Given the description of an element on the screen output the (x, y) to click on. 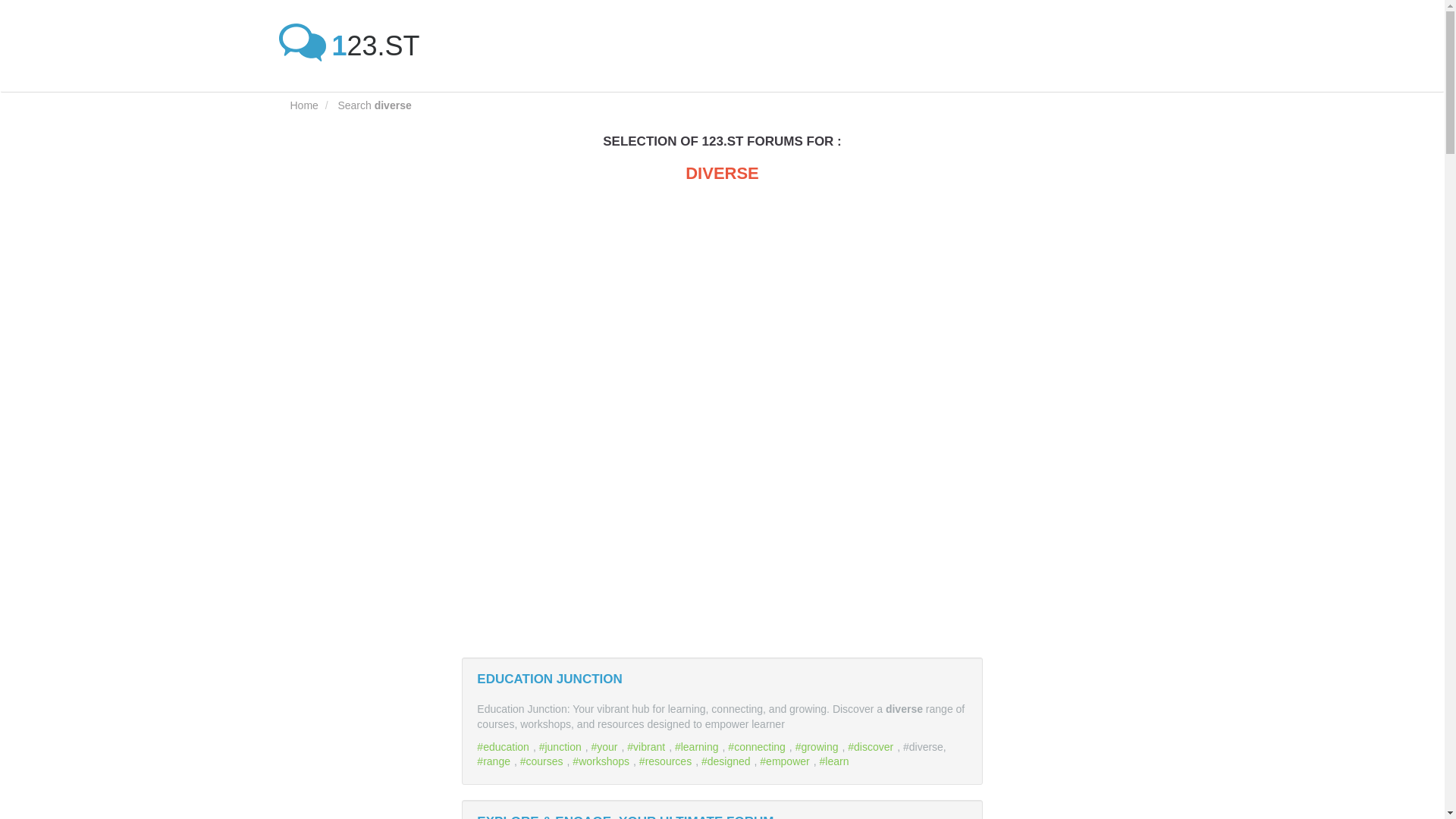
your (606, 746)
Education Junction (549, 678)
junction (561, 746)
connecting (758, 746)
Home (303, 105)
range (495, 761)
courses (543, 761)
vibrant (647, 746)
education (504, 746)
learning (698, 746)
growing (818, 746)
empower (786, 761)
designed (727, 761)
discover (871, 746)
empower (786, 761)
